Given the description of an element on the screen output the (x, y) to click on. 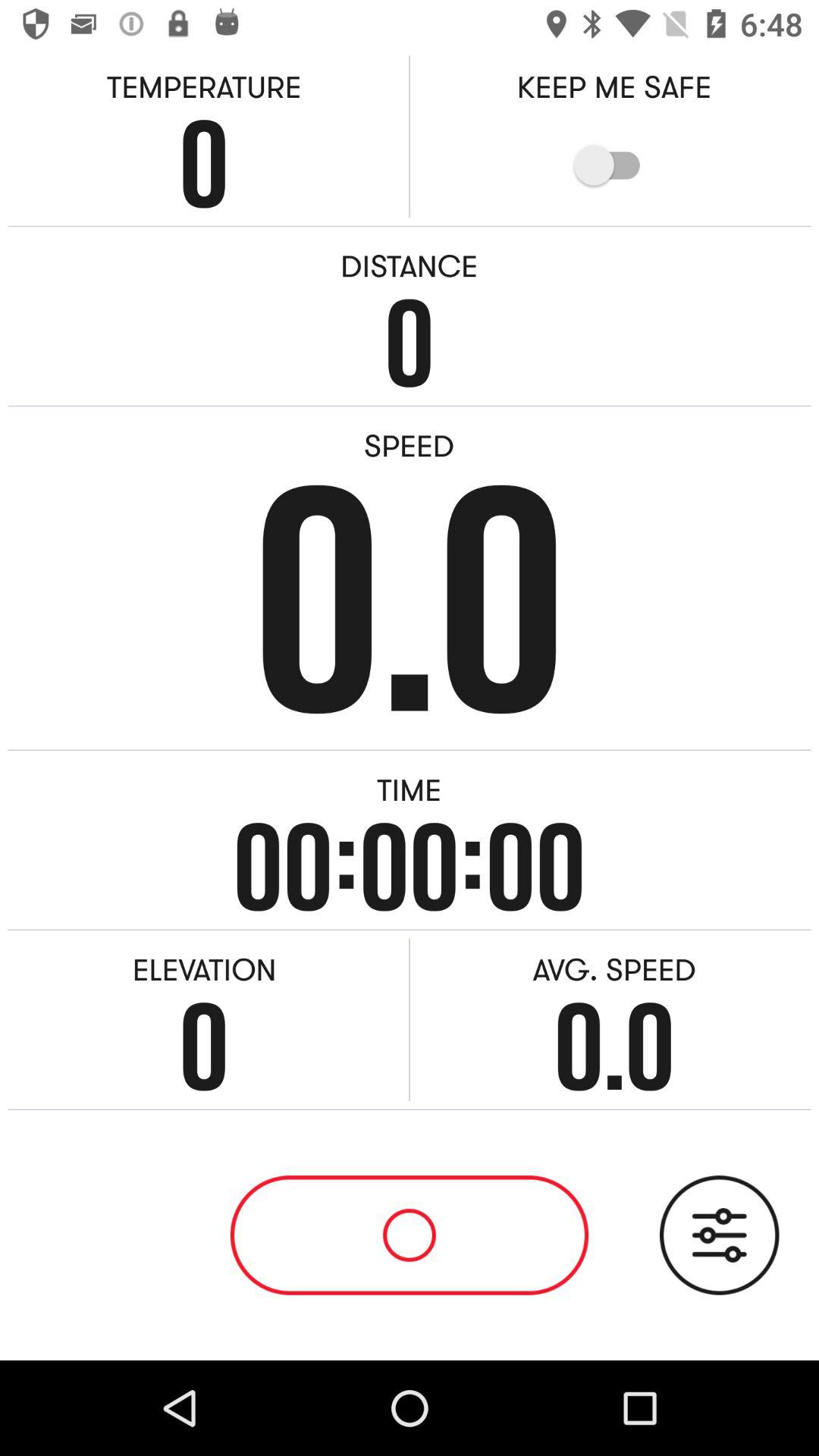
settings (719, 1235)
